Given the description of an element on the screen output the (x, y) to click on. 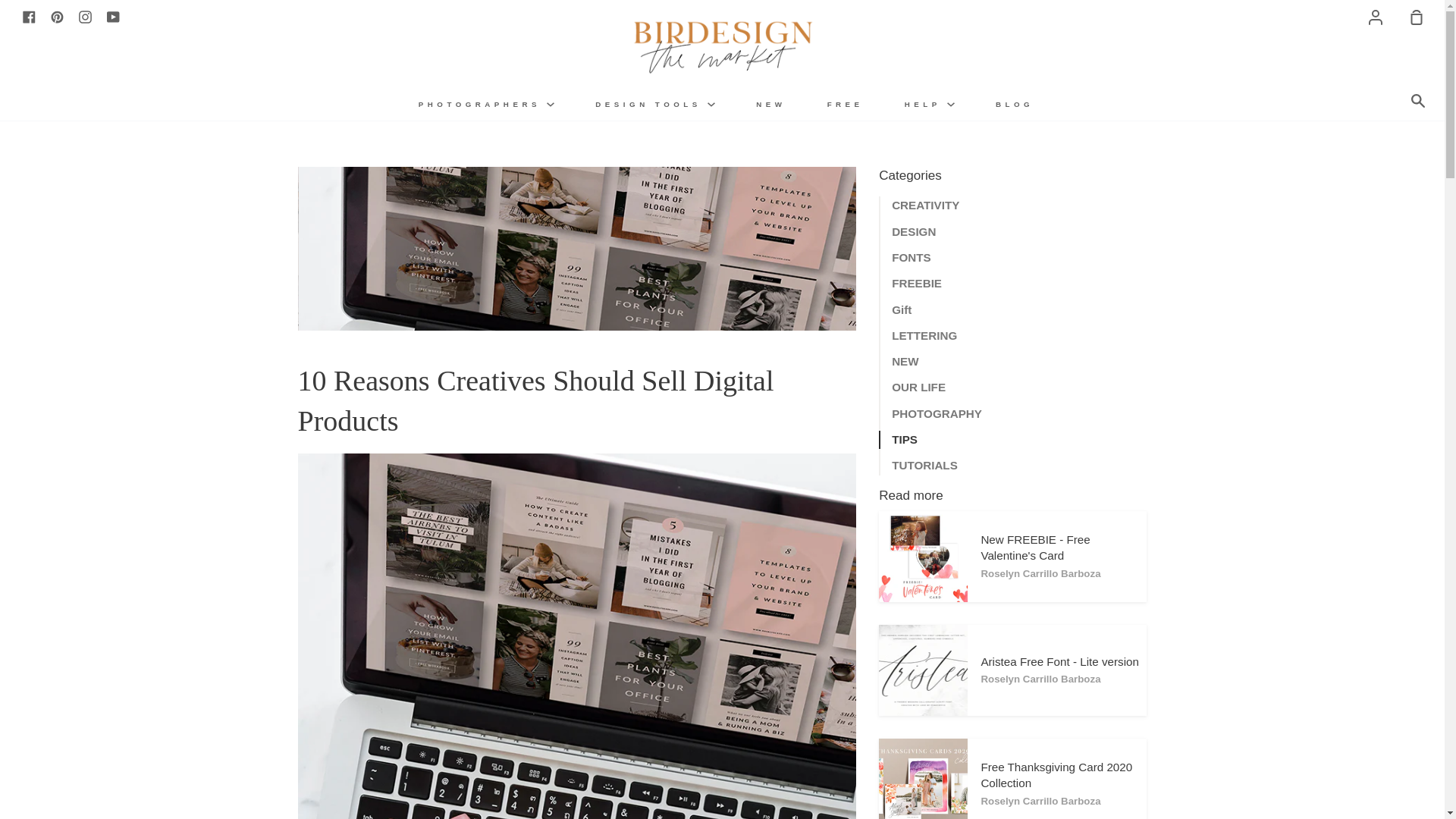
Birdesign on Instagram (84, 15)
PHOTOGRAPHERS (485, 103)
Pinterest (57, 15)
Account (1375, 16)
Instagram (84, 15)
Birdesign on Pinterest (57, 15)
Facebook (28, 15)
Birdesign on Facebook (28, 15)
YouTube (112, 15)
Birdesign on YouTube (112, 15)
